Given the description of an element on the screen output the (x, y) to click on. 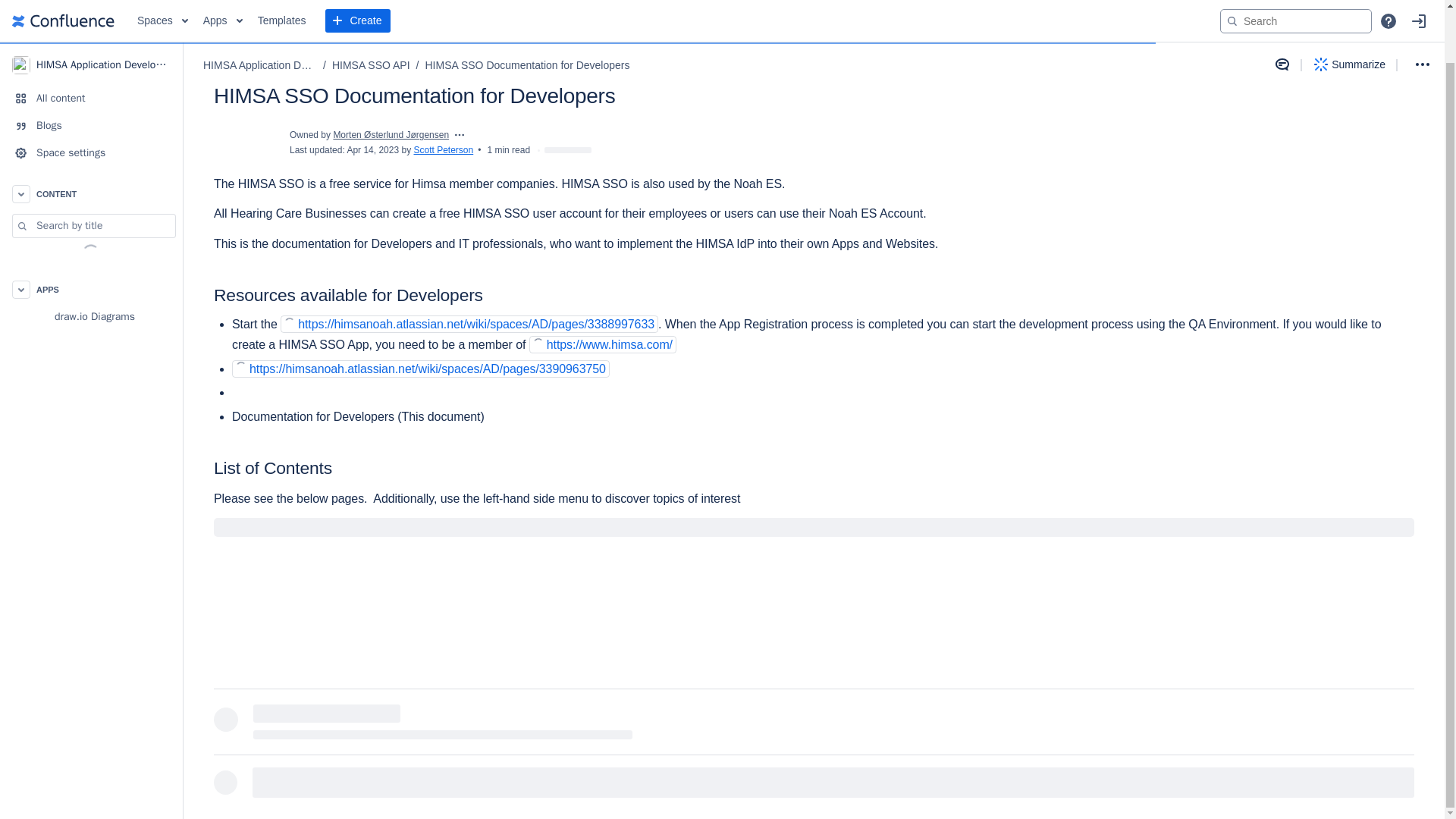
Scott Peterson (443, 149)
Blogs (90, 68)
Summarize (1349, 9)
Apr 14, 2023 (372, 149)
HIMSA Application Development (90, 11)
HIMSA SSO API (370, 7)
HIMSA Application Development (260, 7)
CONTENT (90, 136)
draw.io Diagrams (90, 259)
APPS (90, 232)
